Given the description of an element on the screen output the (x, y) to click on. 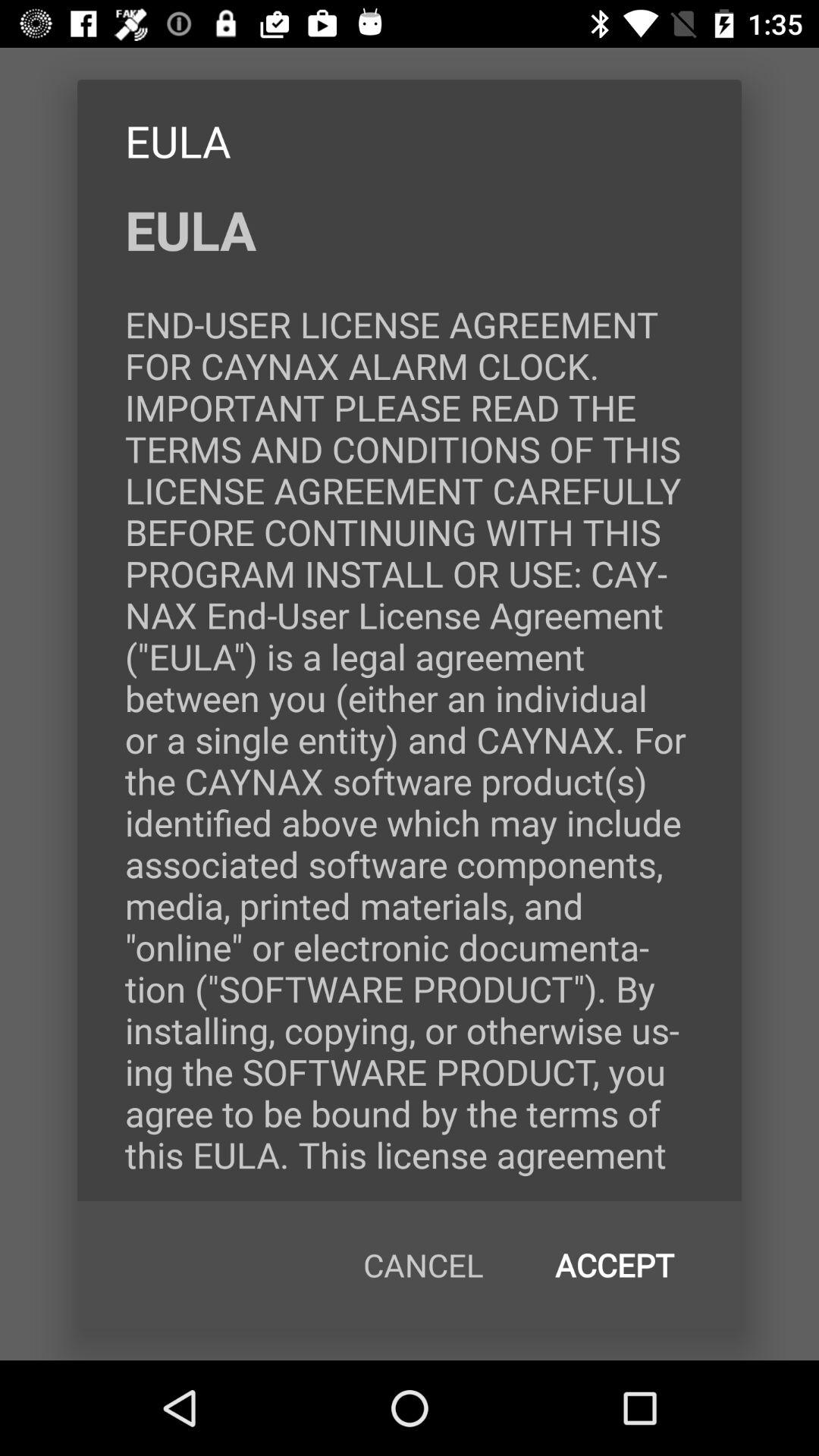
open the cancel icon (422, 1264)
